Given the description of an element on the screen output the (x, y) to click on. 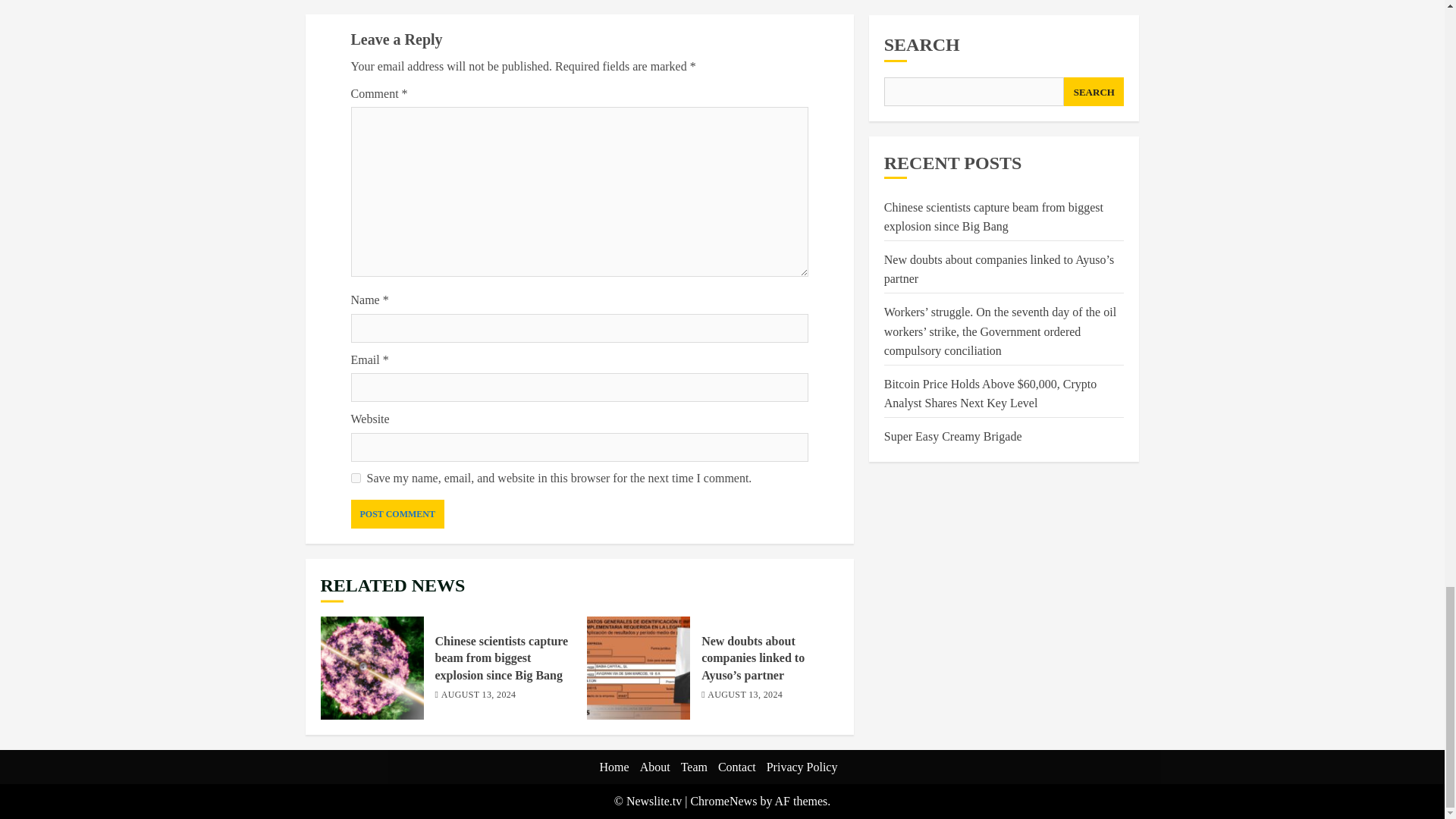
Post Comment (397, 513)
Contact (736, 766)
AUGUST 13, 2024 (745, 695)
ChromeNews (723, 800)
yes (354, 478)
Home (613, 766)
AUGUST 13, 2024 (478, 695)
Privacy Policy (802, 766)
